Given the description of an element on the screen output the (x, y) to click on. 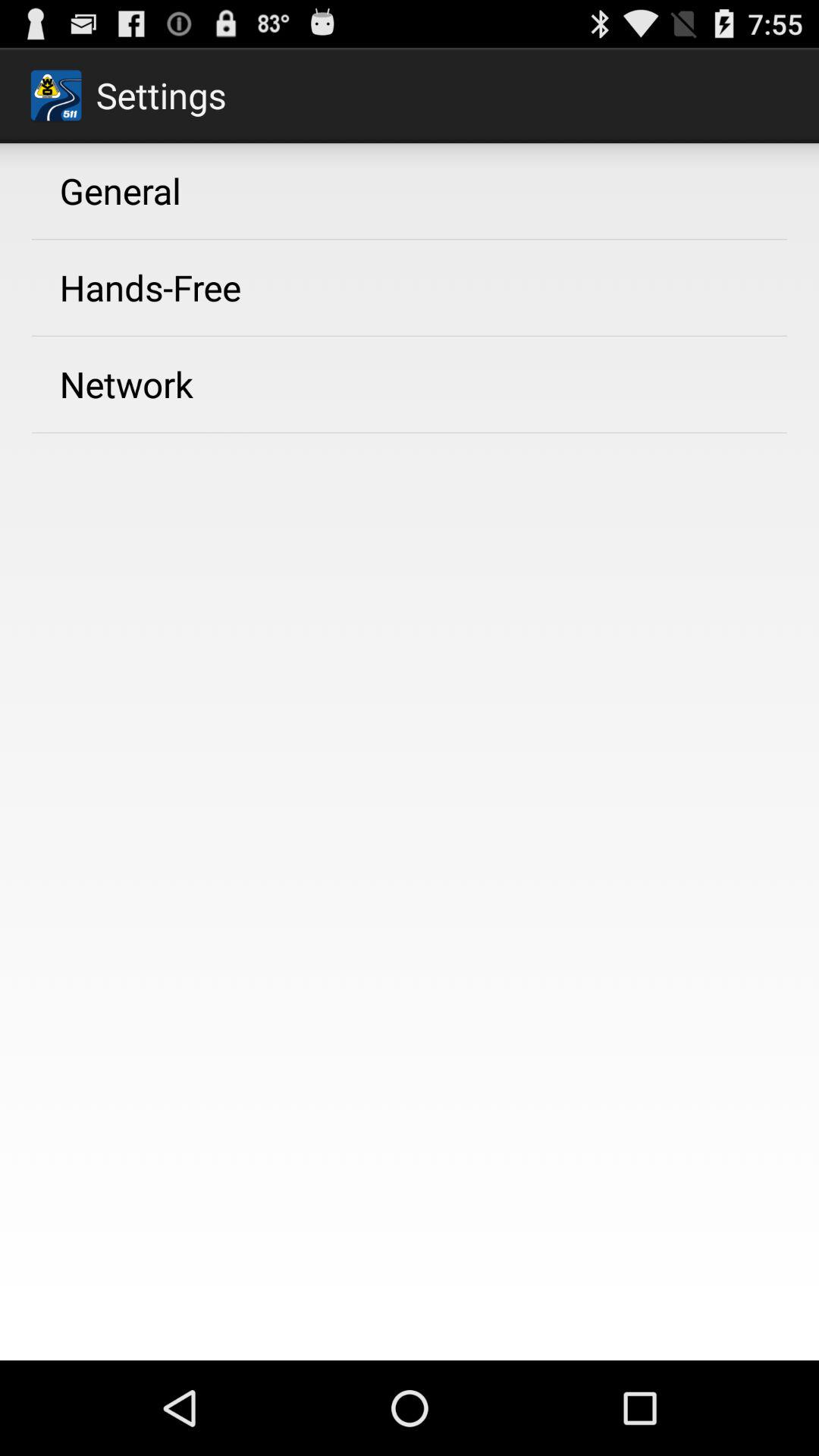
click item below hands-free app (126, 384)
